Given the description of an element on the screen output the (x, y) to click on. 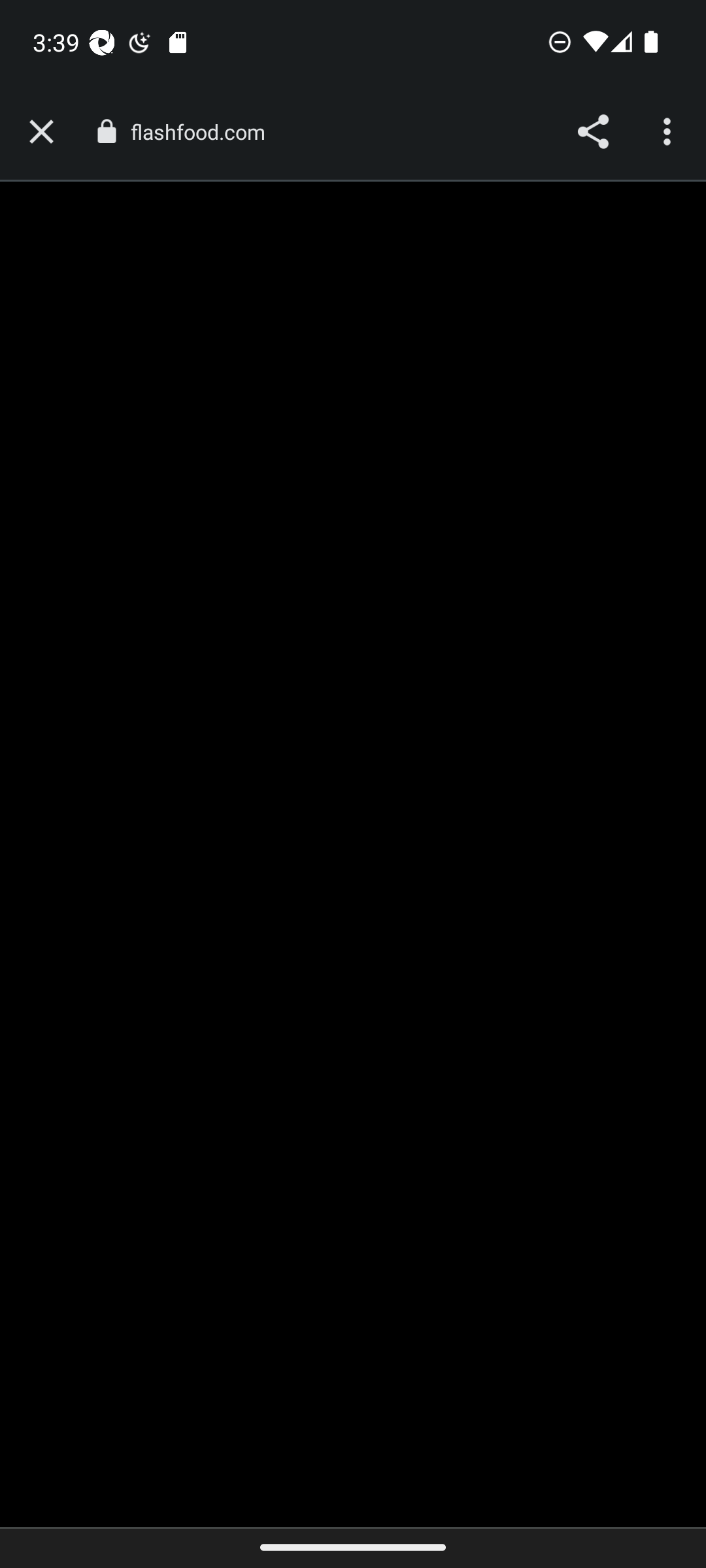
Close tab (41, 131)
Share (592, 131)
More options (669, 131)
Connection is secure (106, 131)
flashfood.com (204, 131)
